Given the description of an element on the screen output the (x, y) to click on. 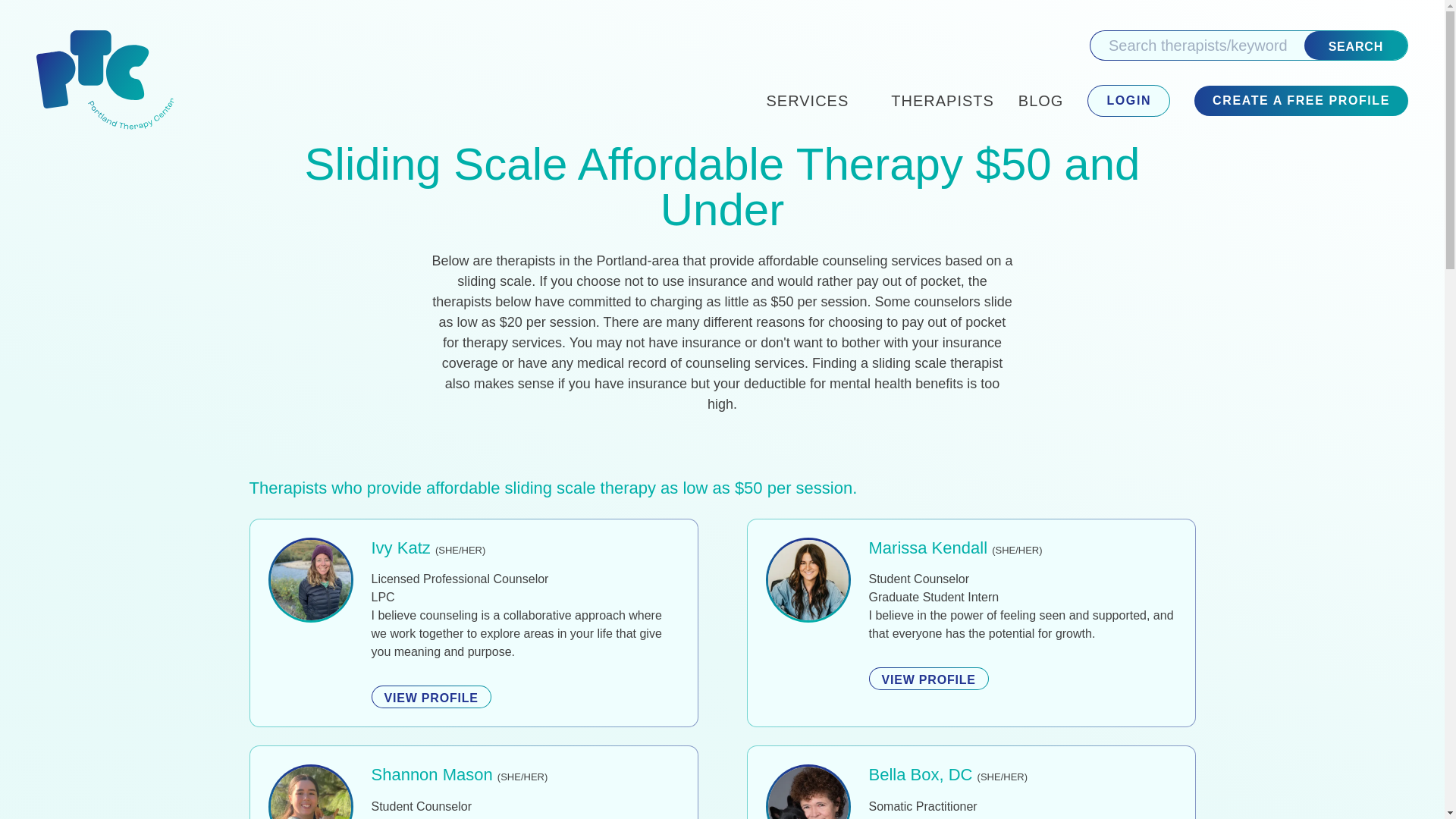
CREATE A FREE PROFILE (1300, 100)
BLOG (1040, 100)
Bella Box, DC (920, 773)
Shannon Mason (432, 773)
THERAPISTS (942, 100)
Marissa Kendall (928, 547)
SEARCH (1355, 45)
LOGIN (1128, 101)
VIEW PROFILE (431, 696)
VIEW PROFILE (928, 678)
Ivy Katz (400, 547)
